Given the description of an element on the screen output the (x, y) to click on. 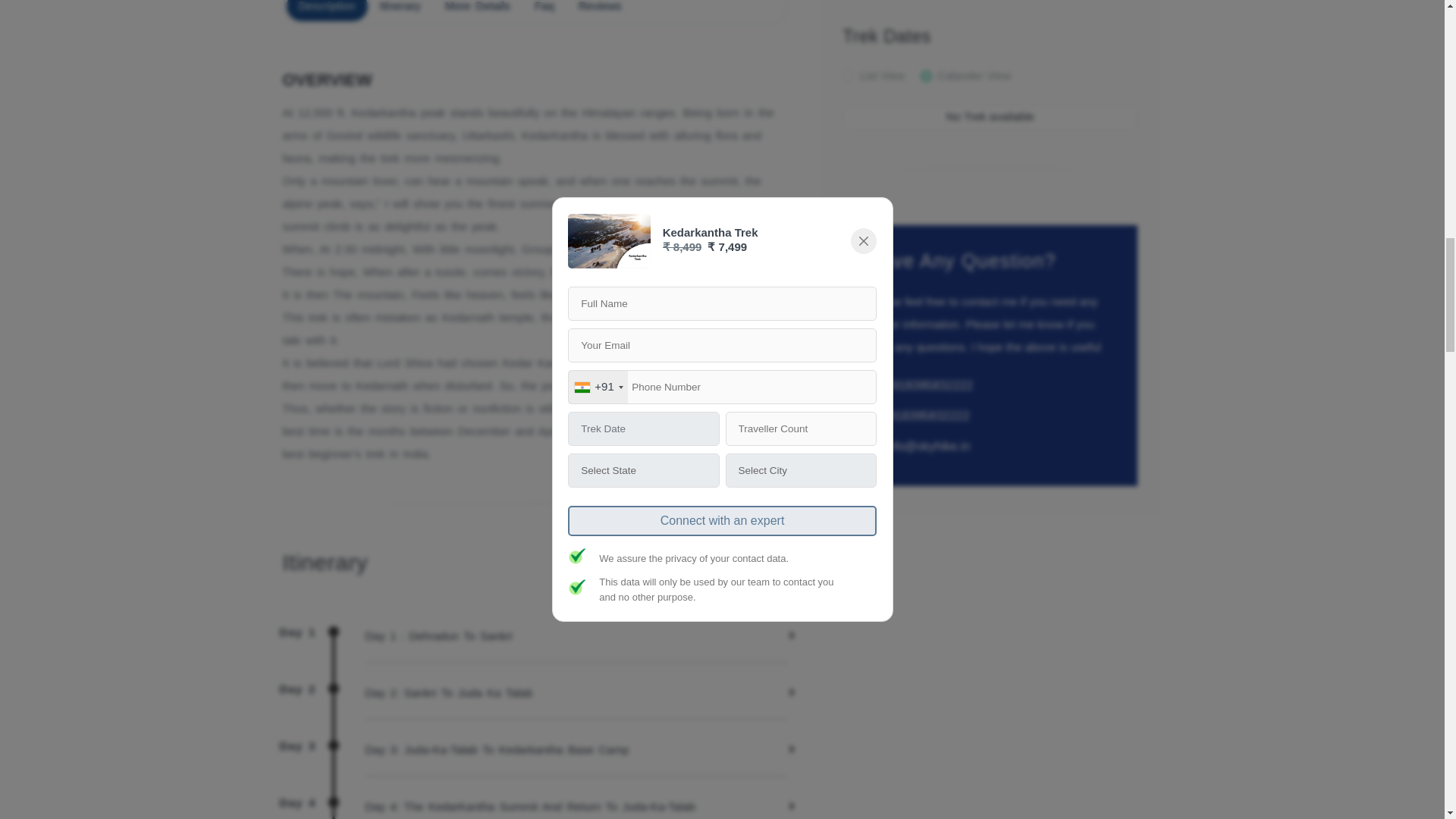
Itinerary (535, 10)
Description (400, 10)
